Given the description of an element on the screen output the (x, y) to click on. 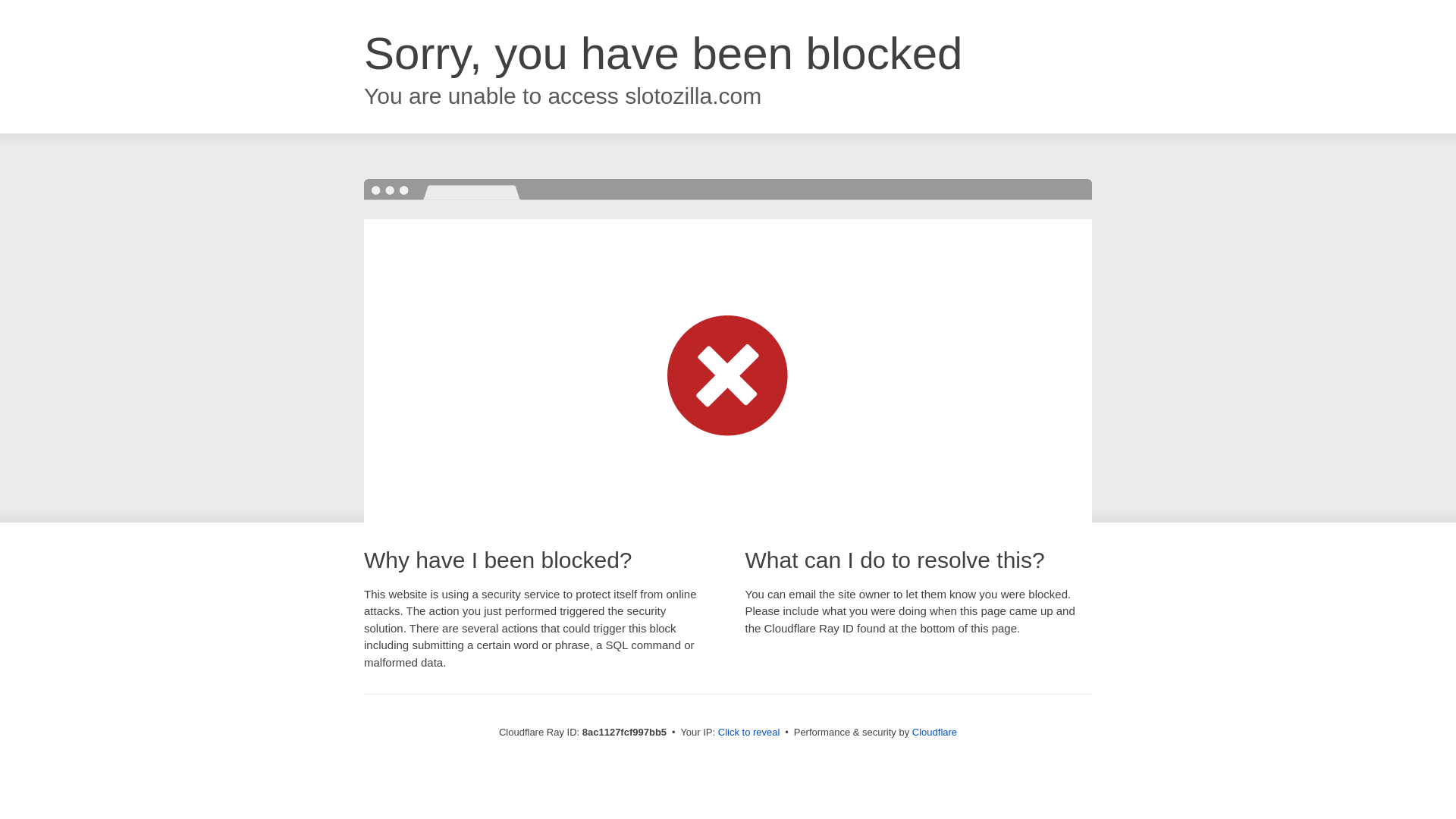
Cloudflare (934, 731)
Click to reveal (748, 732)
